Given the description of an element on the screen output the (x, y) to click on. 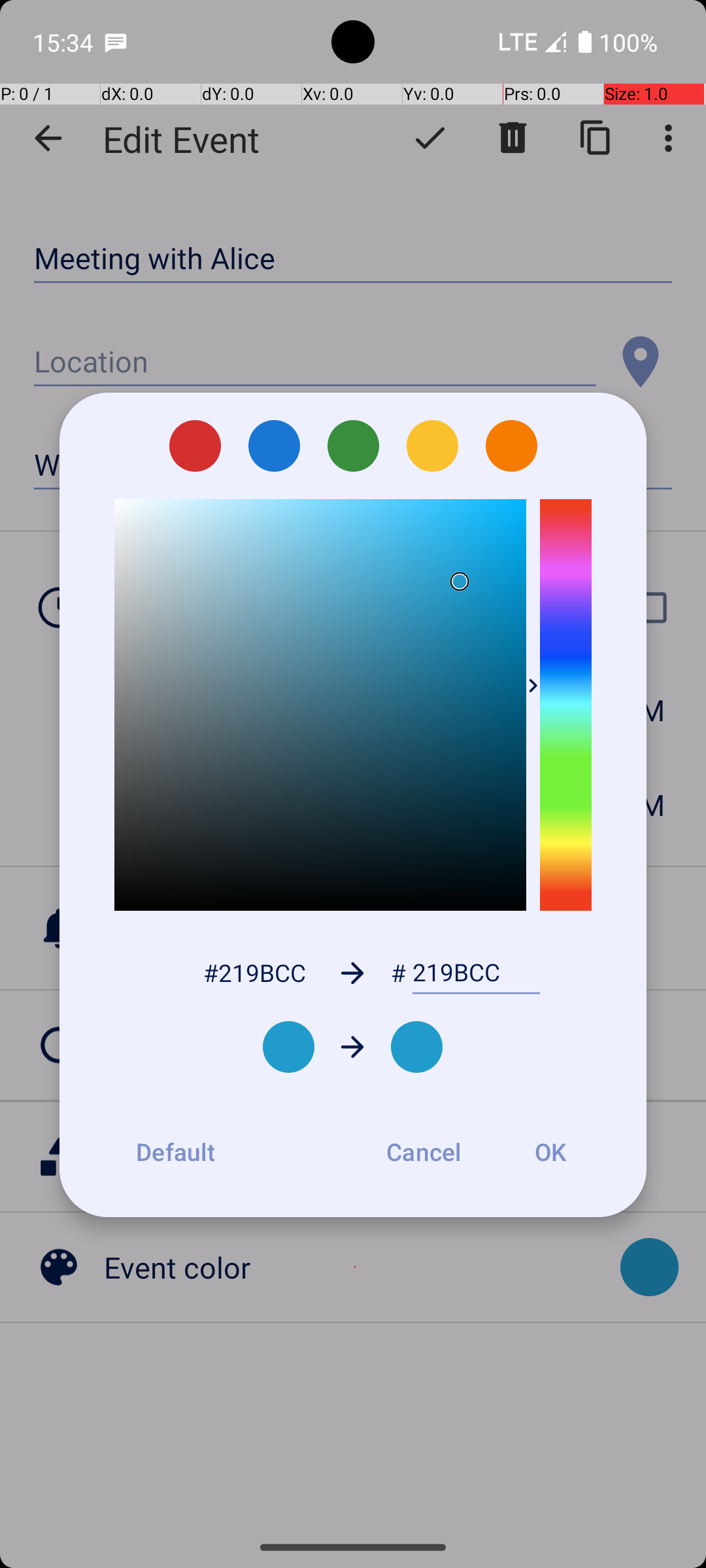
219BCC Element type: android.widget.EditText (475, 972)
